Given the description of an element on the screen output the (x, y) to click on. 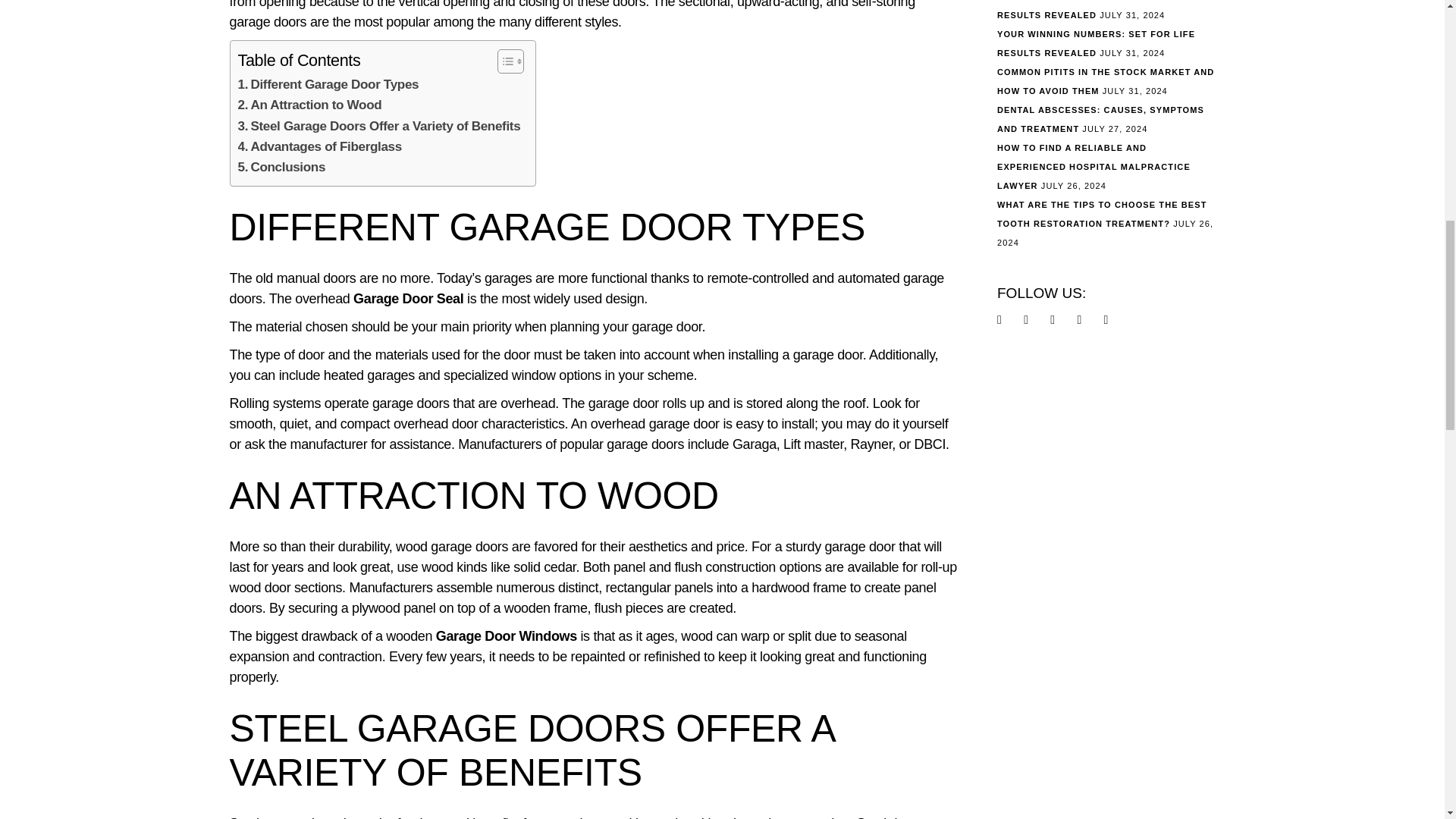
Conclusions (282, 167)
An Attraction to Wood (309, 105)
Steel Garage Doors Offer a Variety of Benefits (379, 126)
Different Garage Door Types (328, 84)
Advantages of Fiberglass (319, 146)
